Given the description of an element on the screen output the (x, y) to click on. 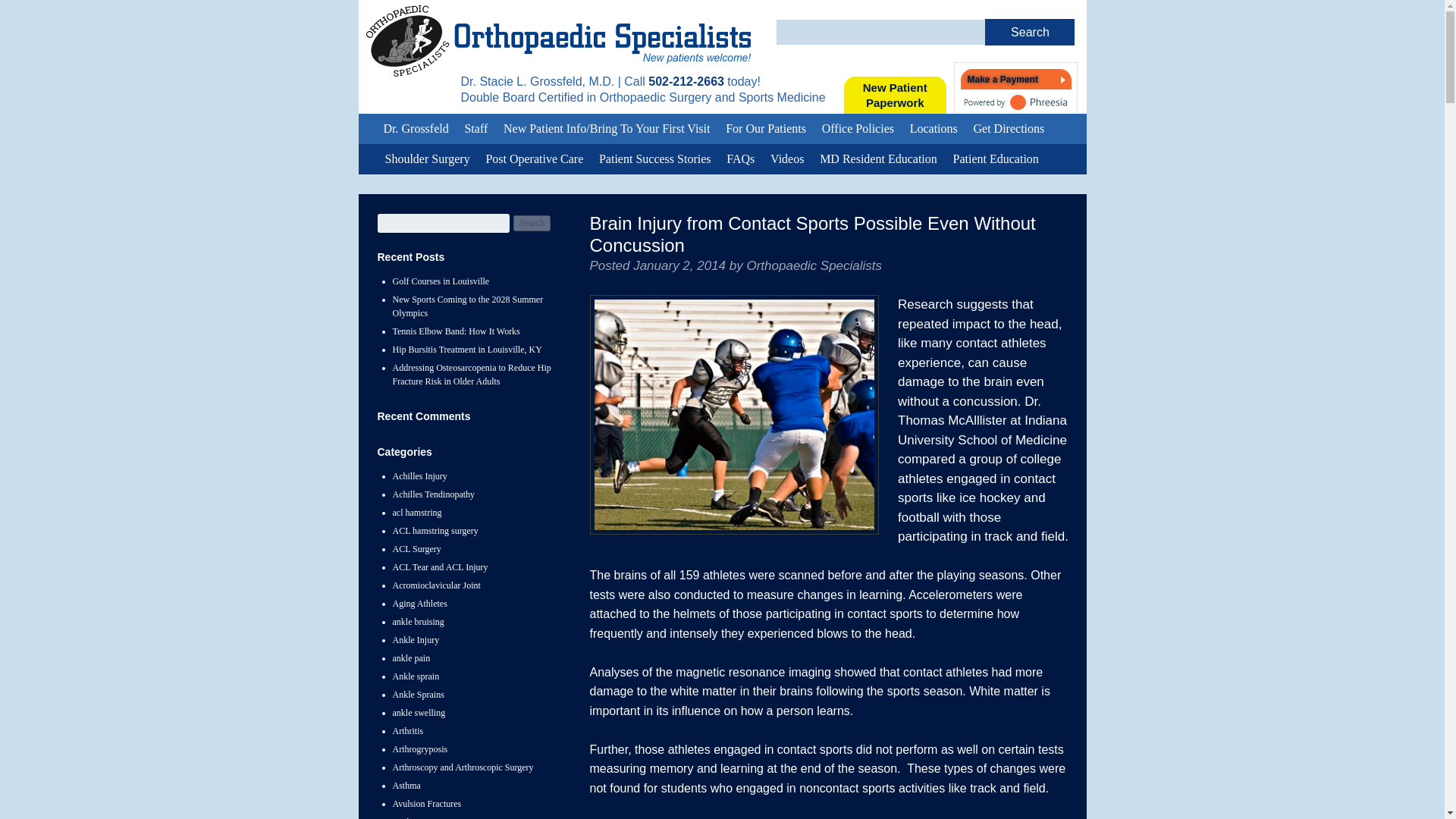
brain injury and contact sports (734, 414)
Dr. Grossfeld (415, 128)
Office Policies (857, 128)
Shoulder Surgery (427, 159)
Videos (895, 94)
FAQs (786, 159)
For Our Patients (740, 159)
Patient Success Stories (765, 128)
Search (654, 159)
